Given the description of an element on the screen output the (x, y) to click on. 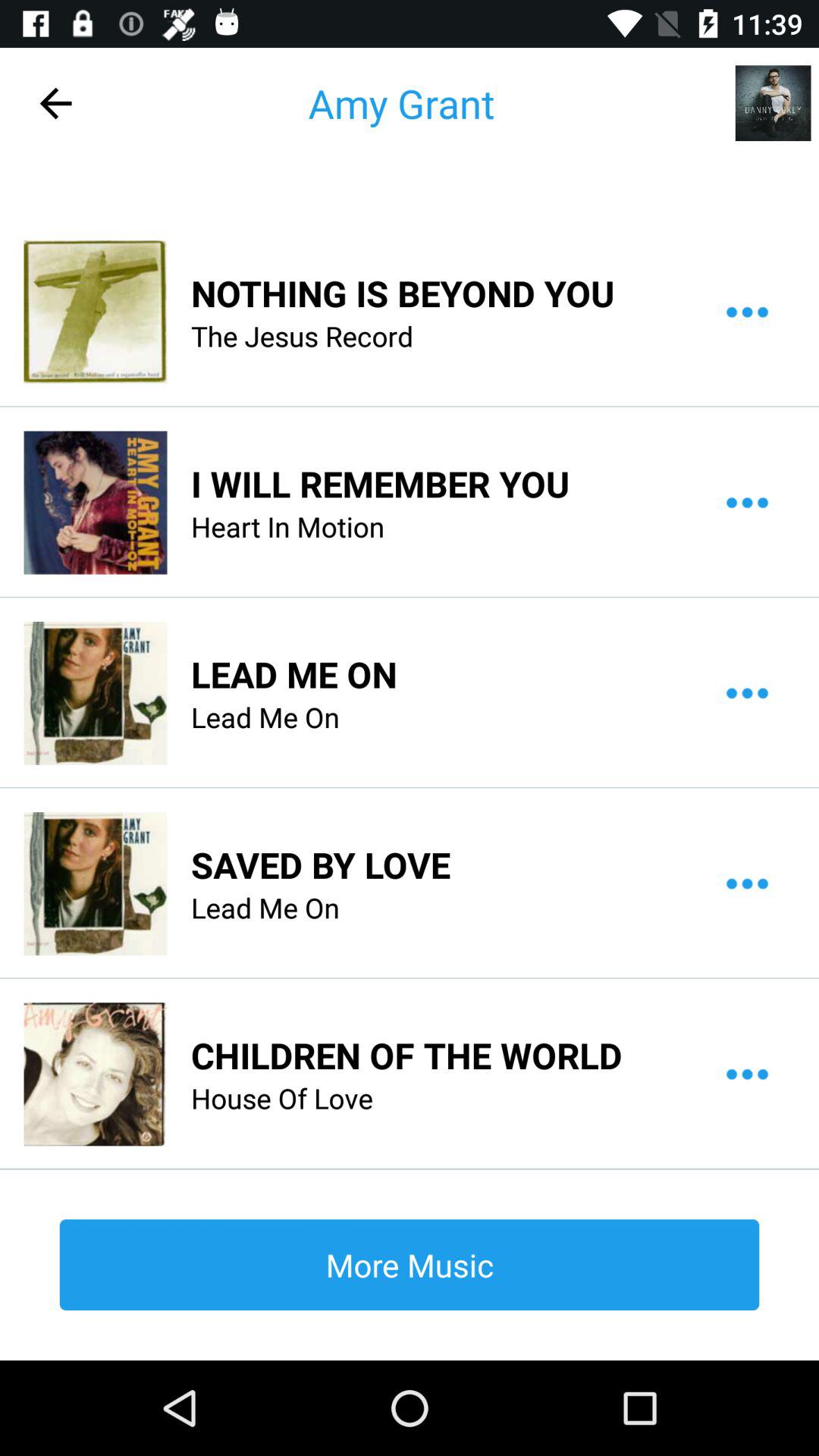
swipe until the more music item (409, 1264)
